Given the description of an element on the screen output the (x, y) to click on. 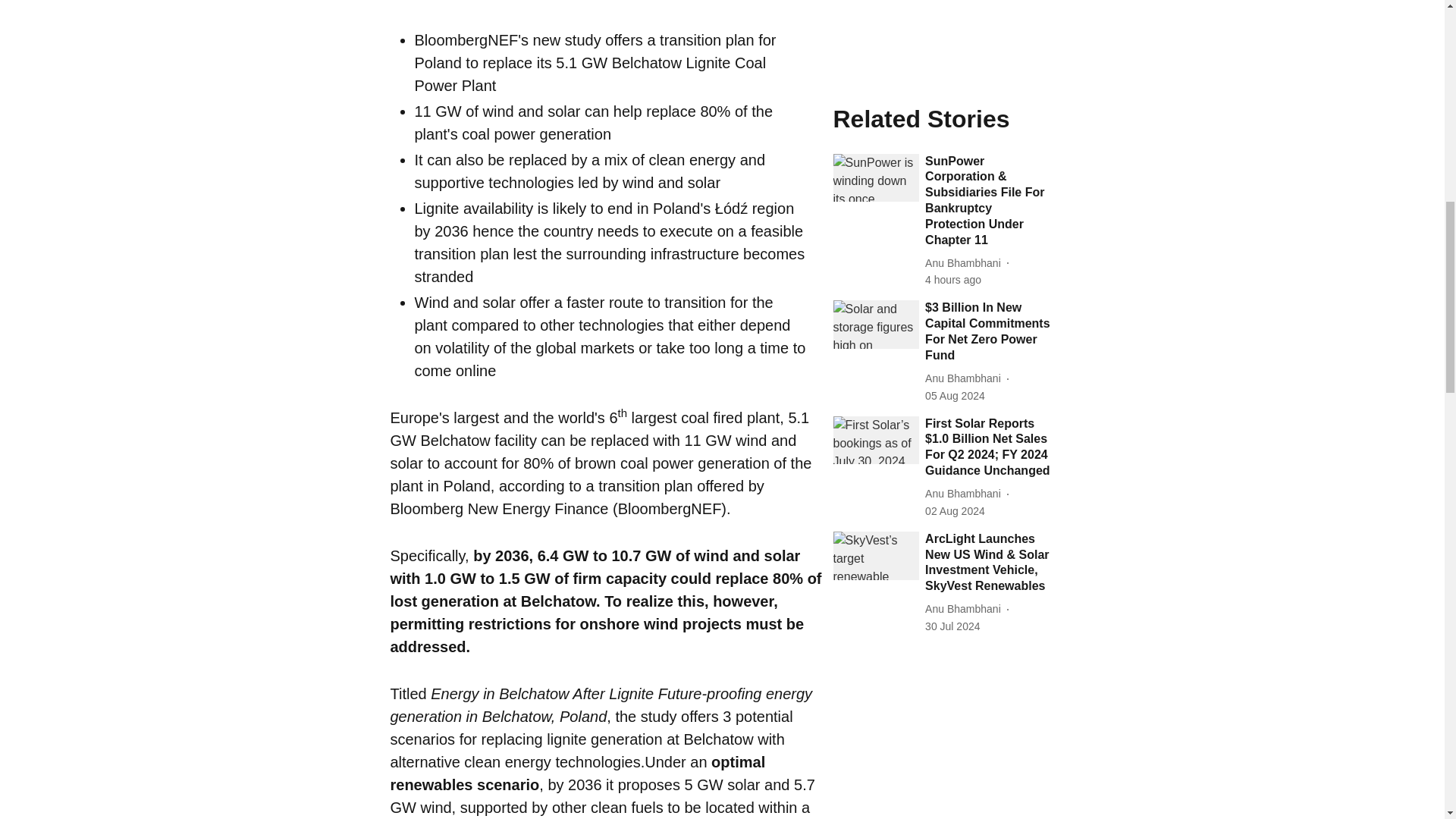
2024-08-02 08:33 (954, 41)
2024-07-30 06:21 (951, 156)
